Given the description of an element on the screen output the (x, y) to click on. 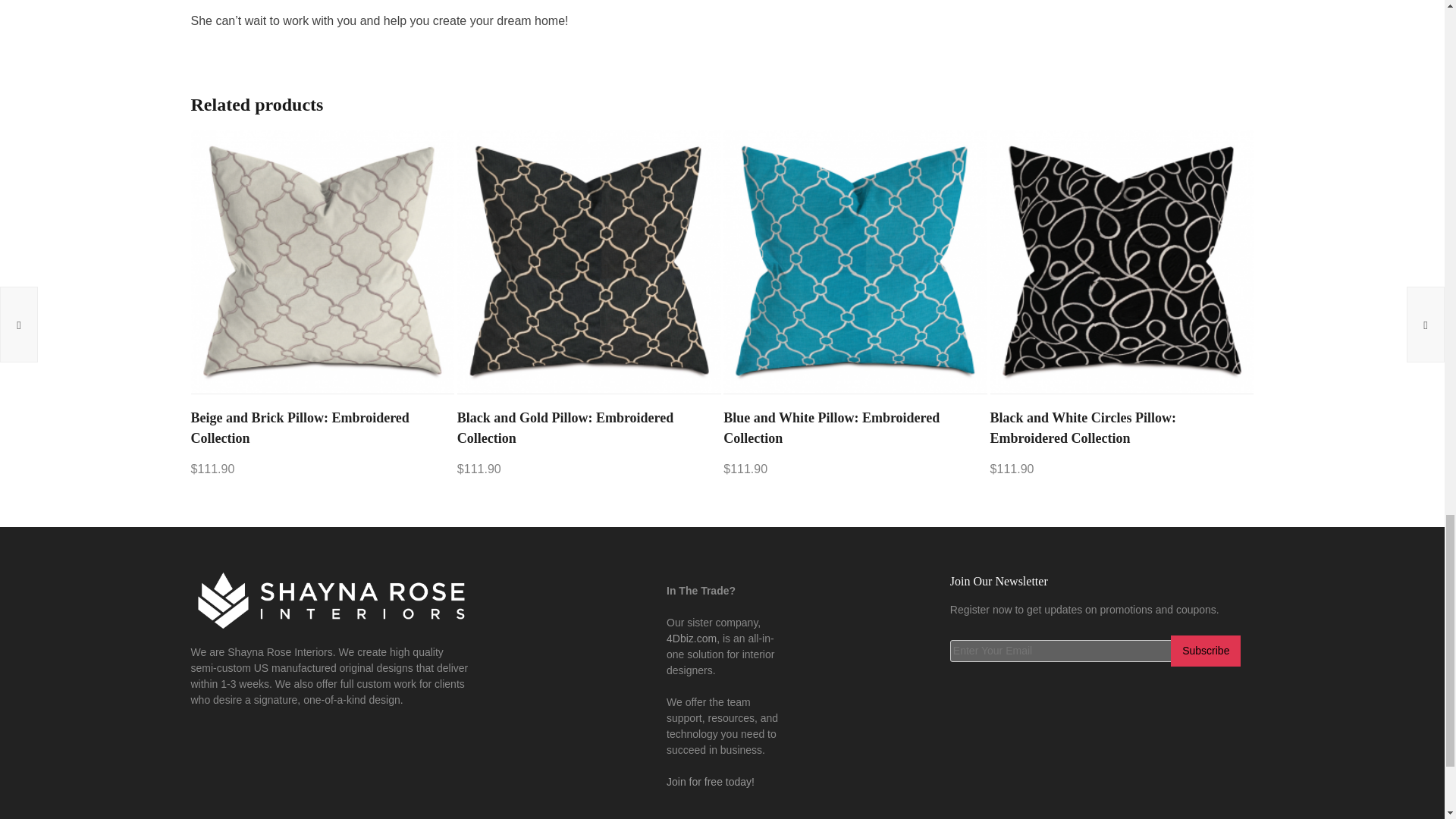
Subscribe (1205, 650)
